Given the description of an element on the screen output the (x, y) to click on. 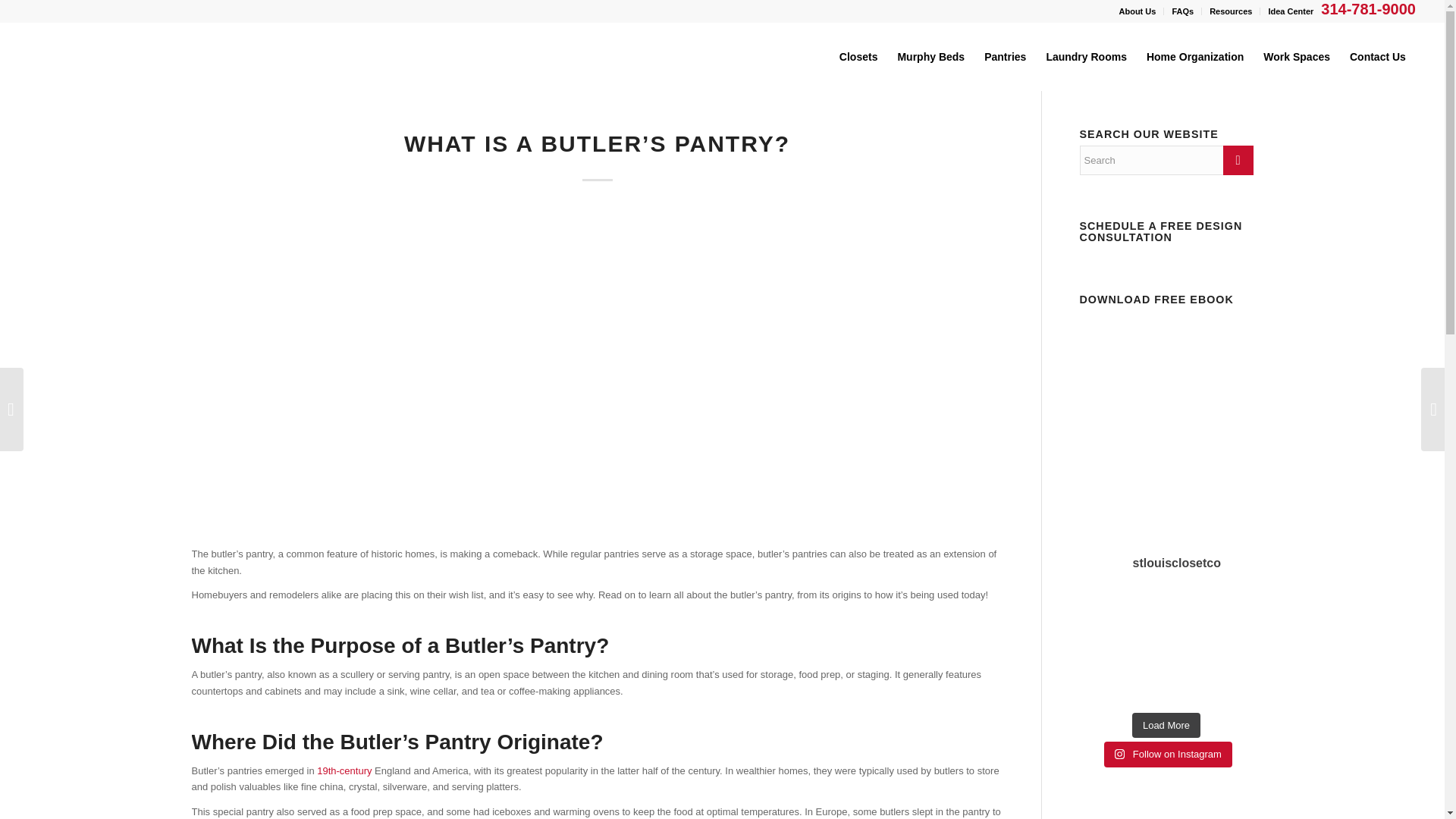
Idea Center (1290, 11)
Murphy Beds (930, 56)
Laundry Rooms (1086, 56)
Contact Us (1377, 56)
314-781-9000 (1364, 8)
Home Organization (1195, 56)
Resources (1230, 11)
FAQs (1182, 11)
Work Spaces (1296, 56)
About Us (1137, 11)
